Given the description of an element on the screen output the (x, y) to click on. 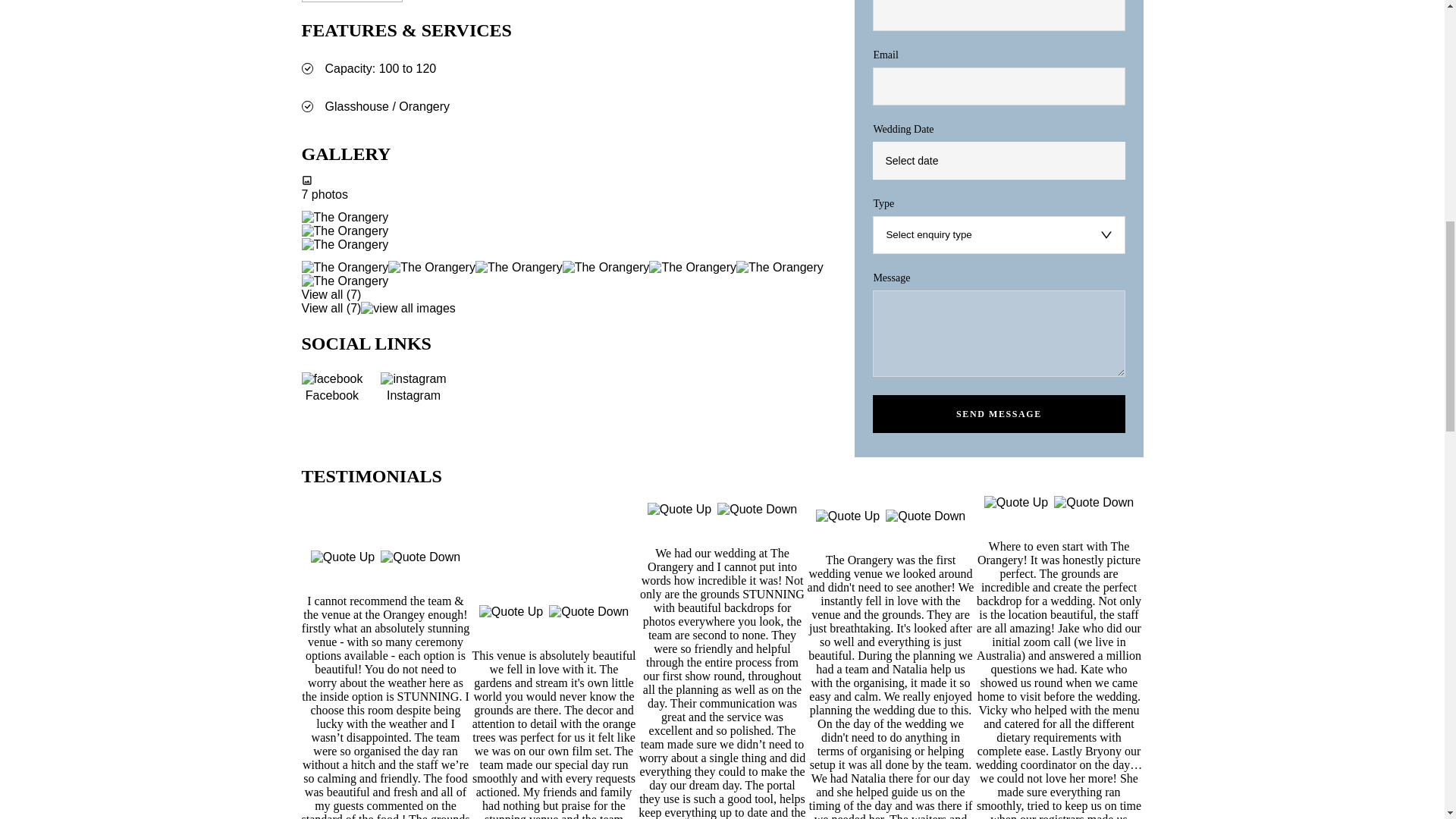
SEND MESSAGE (998, 413)
Instagram (412, 387)
Select enquiry type (998, 234)
Facebook (331, 387)
VIEW WEBSITE (352, 1)
Select date (998, 160)
